Given the description of an element on the screen output the (x, y) to click on. 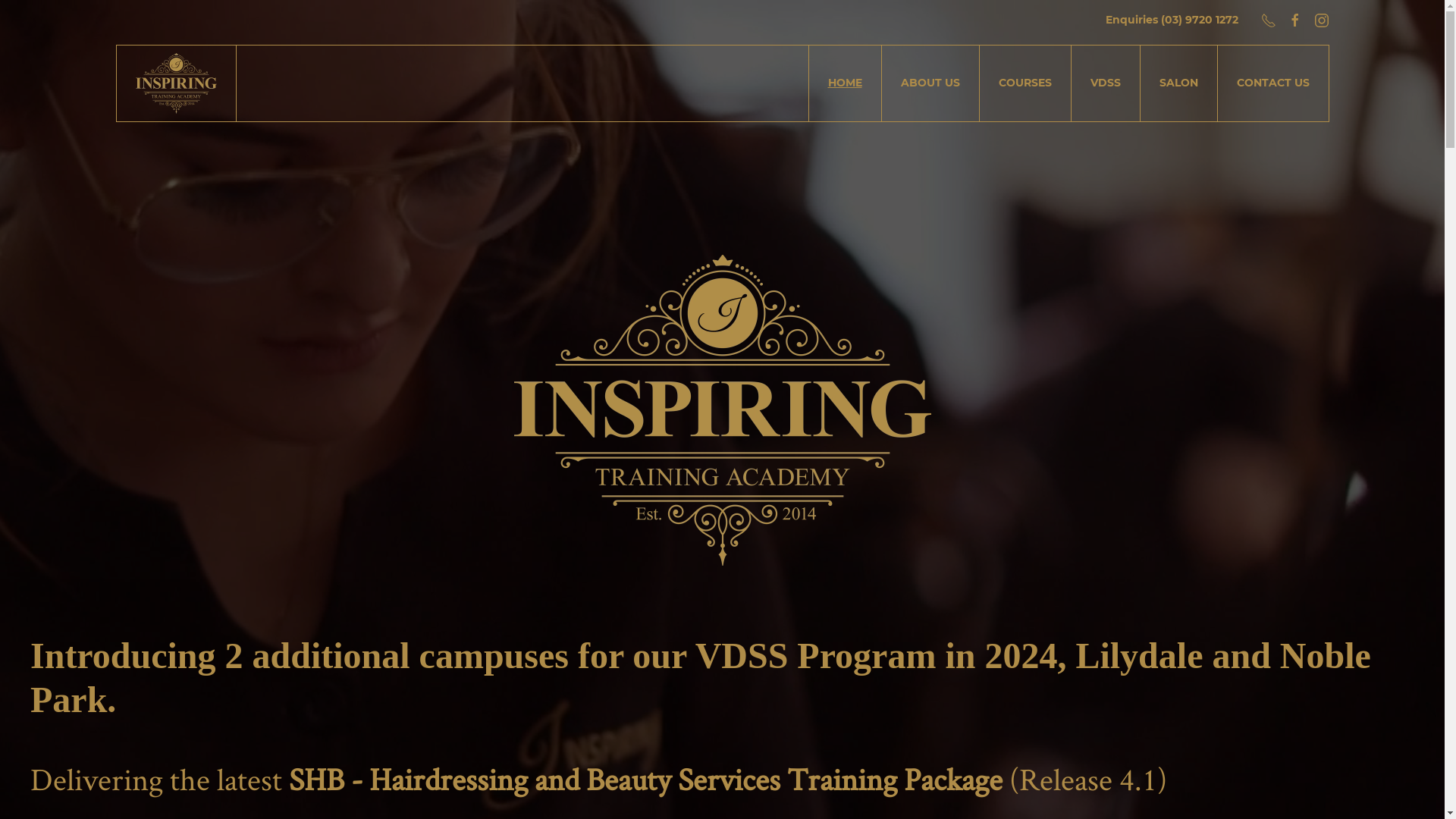
SALON Element type: text (1178, 83)
HOME Element type: text (844, 83)
(03) 9720 1272 Element type: text (1198, 19)
ABOUT US Element type: text (930, 83)
COURSES Element type: text (1025, 83)
VDSS Element type: text (1104, 83)
CONTACT US Element type: text (1272, 83)
